Given the description of an element on the screen output the (x, y) to click on. 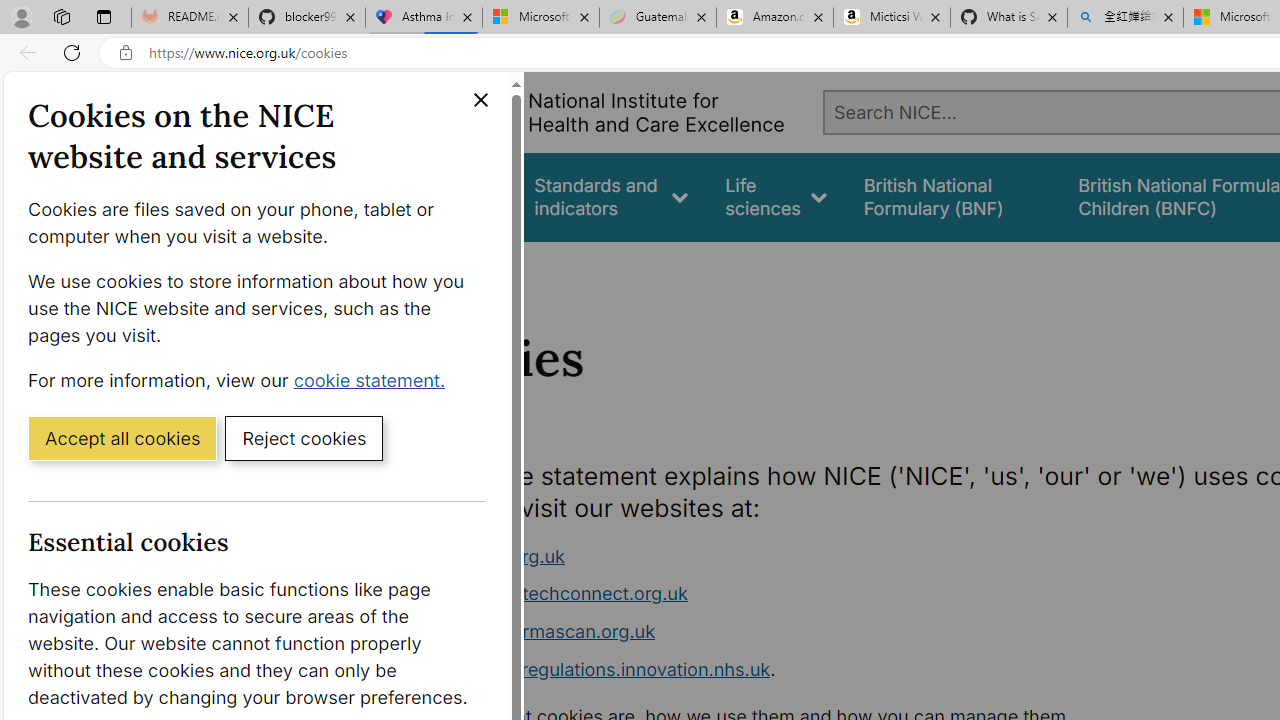
www.nice.org.uk (492, 556)
www.healthtechconnect.org.uk (796, 594)
www.digitalregulations.innovation.nhs.uk (595, 668)
Home> (433, 268)
www.nice.org.uk (796, 556)
www.healthtechconnect.org.uk (554, 593)
